Given the description of an element on the screen output the (x, y) to click on. 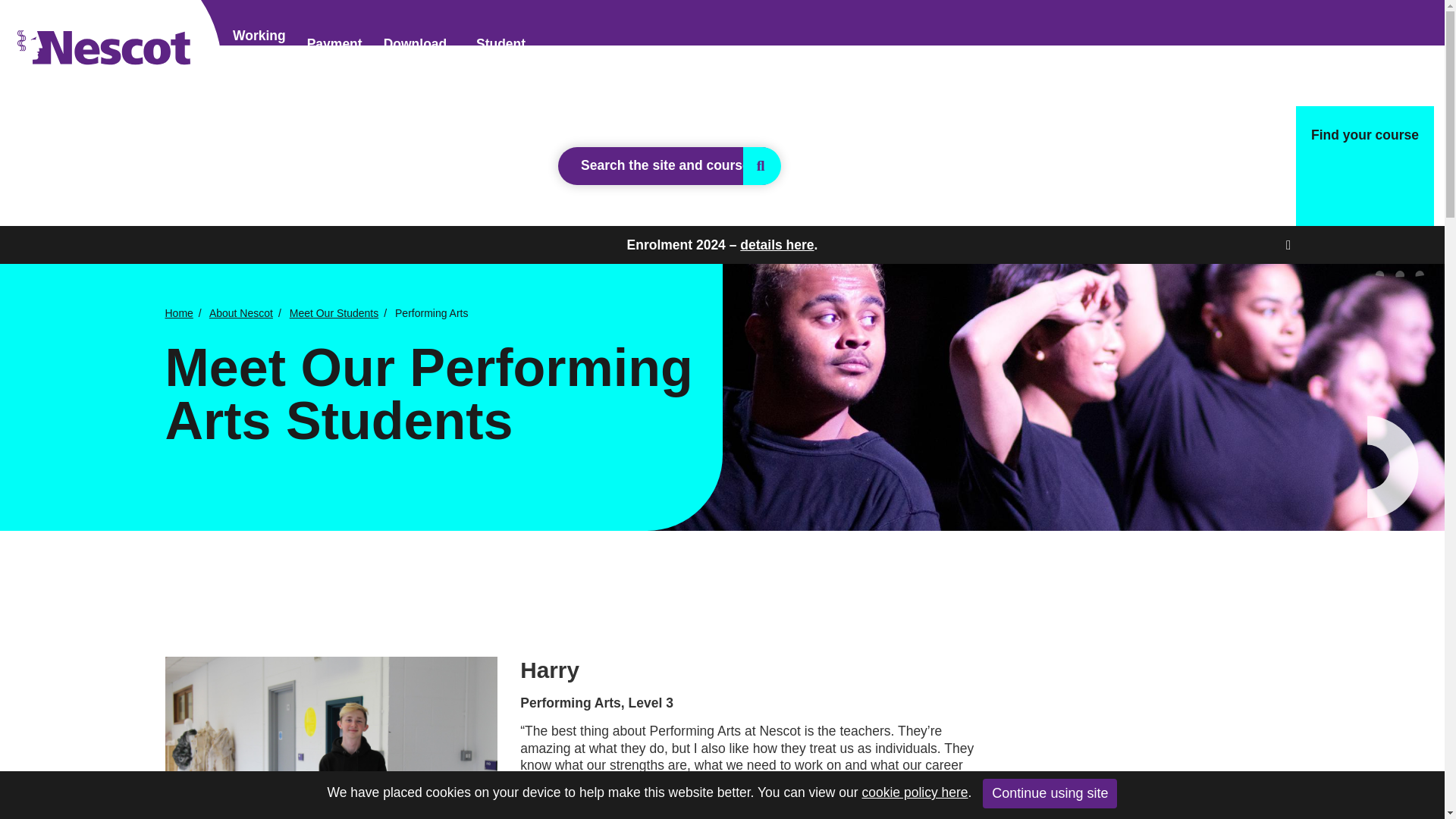
View our cookie policy (914, 792)
Student Information (758, 285)
Discover Nescot (986, 285)
Find your course (1364, 166)
Payment point (334, 53)
Download prospectus (418, 53)
Student logins (500, 53)
Working at Nescot (259, 52)
Opens in a new window (259, 52)
Study options (611, 285)
